Given the description of an element on the screen output the (x, y) to click on. 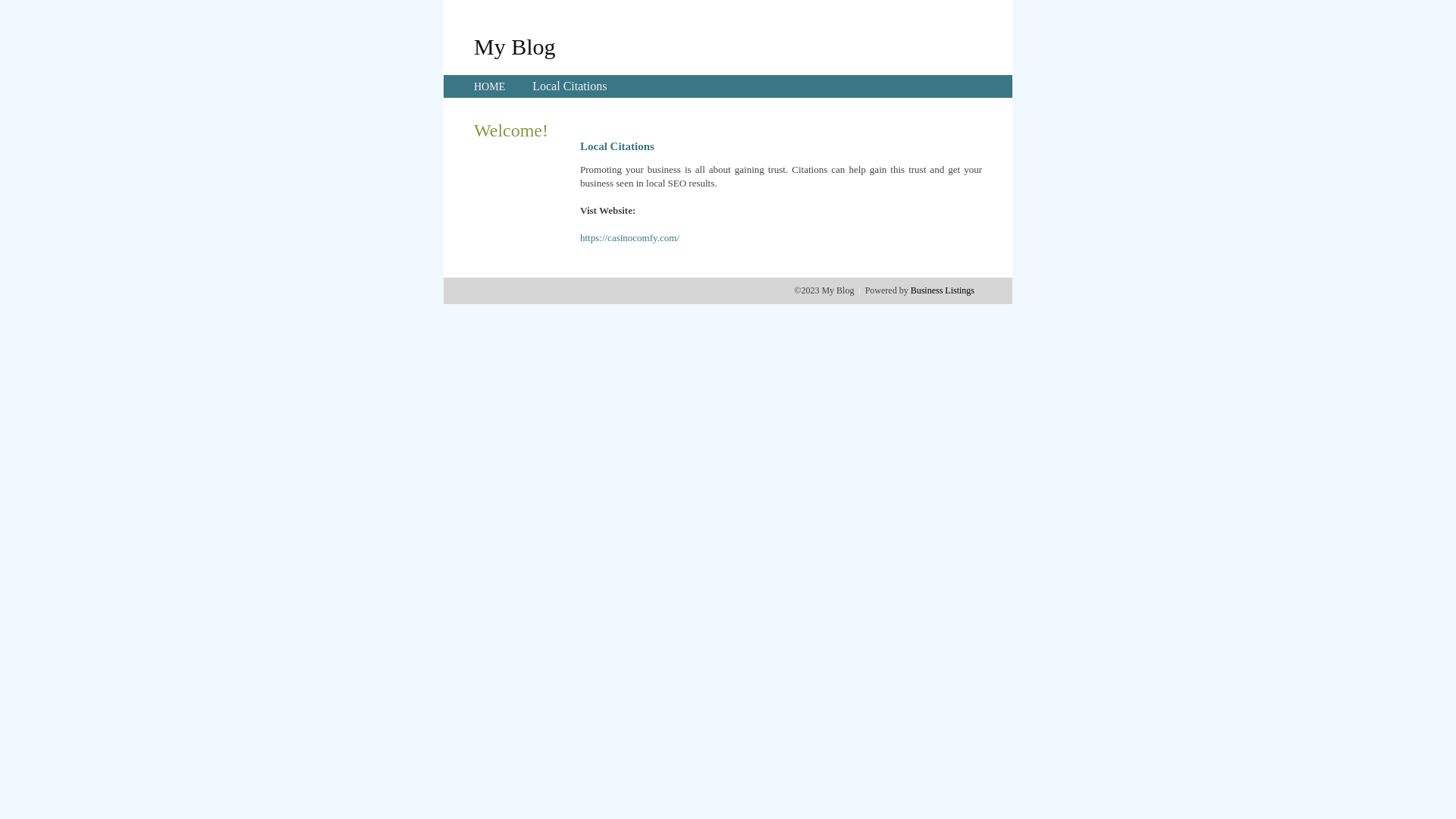
Local Citations Element type: text (569, 85)
HOME Element type: text (489, 86)
My Blog Element type: text (514, 46)
https://casinocomfy.com/ Element type: text (629, 237)
Business Listings Element type: text (942, 290)
